Given the description of an element on the screen output the (x, y) to click on. 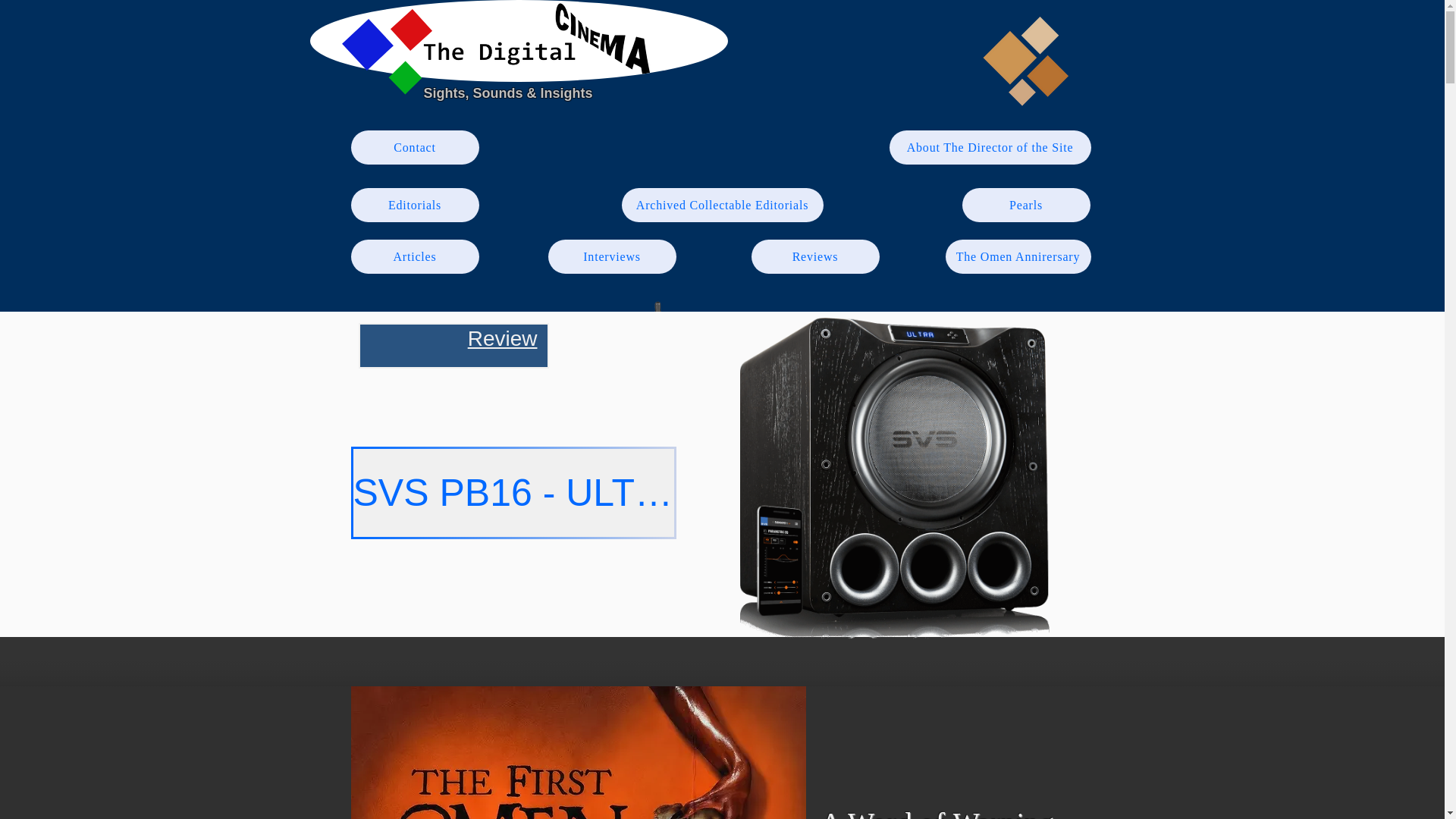
Articles (414, 256)
Pearls (1024, 204)
The Omen Annirersary (1017, 256)
SVS PB16 - ULTRA (512, 492)
static1.squarespace.com.png (517, 40)
Editorials (414, 204)
Archived Collectable Editorials (722, 204)
Review (502, 338)
About The Director of the Site (989, 147)
Interviews (611, 256)
Reviews (815, 256)
A Word of Warning (937, 813)
Contact (414, 147)
